Given the description of an element on the screen output the (x, y) to click on. 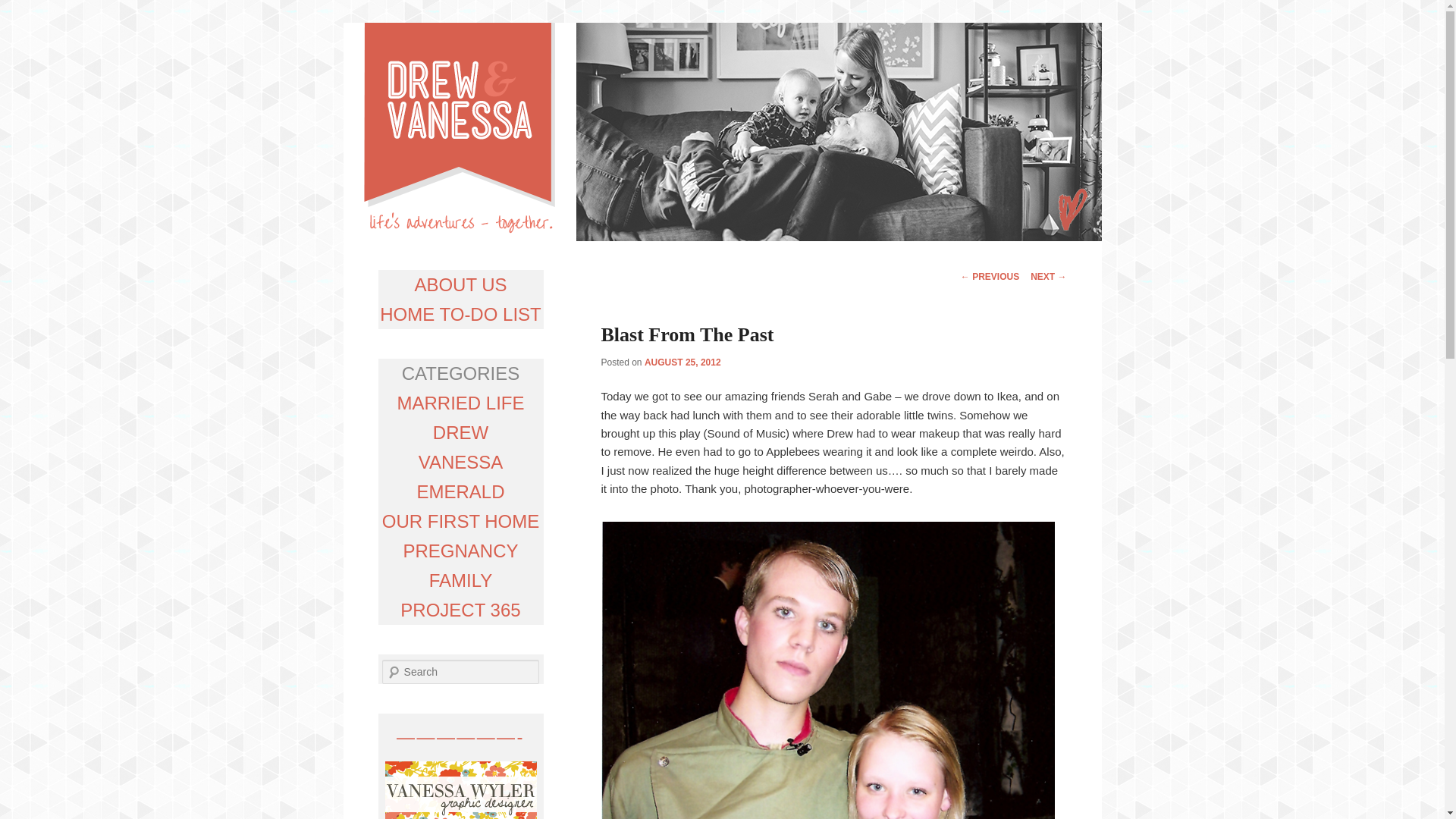
PROJECT 365 (459, 609)
FAMILY (461, 580)
OUR FIRST HOME (460, 521)
AUGUST 25, 2012 (682, 362)
HOME TO-DO LIST (460, 313)
MARRIED LIFE (460, 403)
Search (21, 11)
EMERALD (459, 491)
VANESSA (461, 462)
Skip to primary content (547, 274)
